Given the description of an element on the screen output the (x, y) to click on. 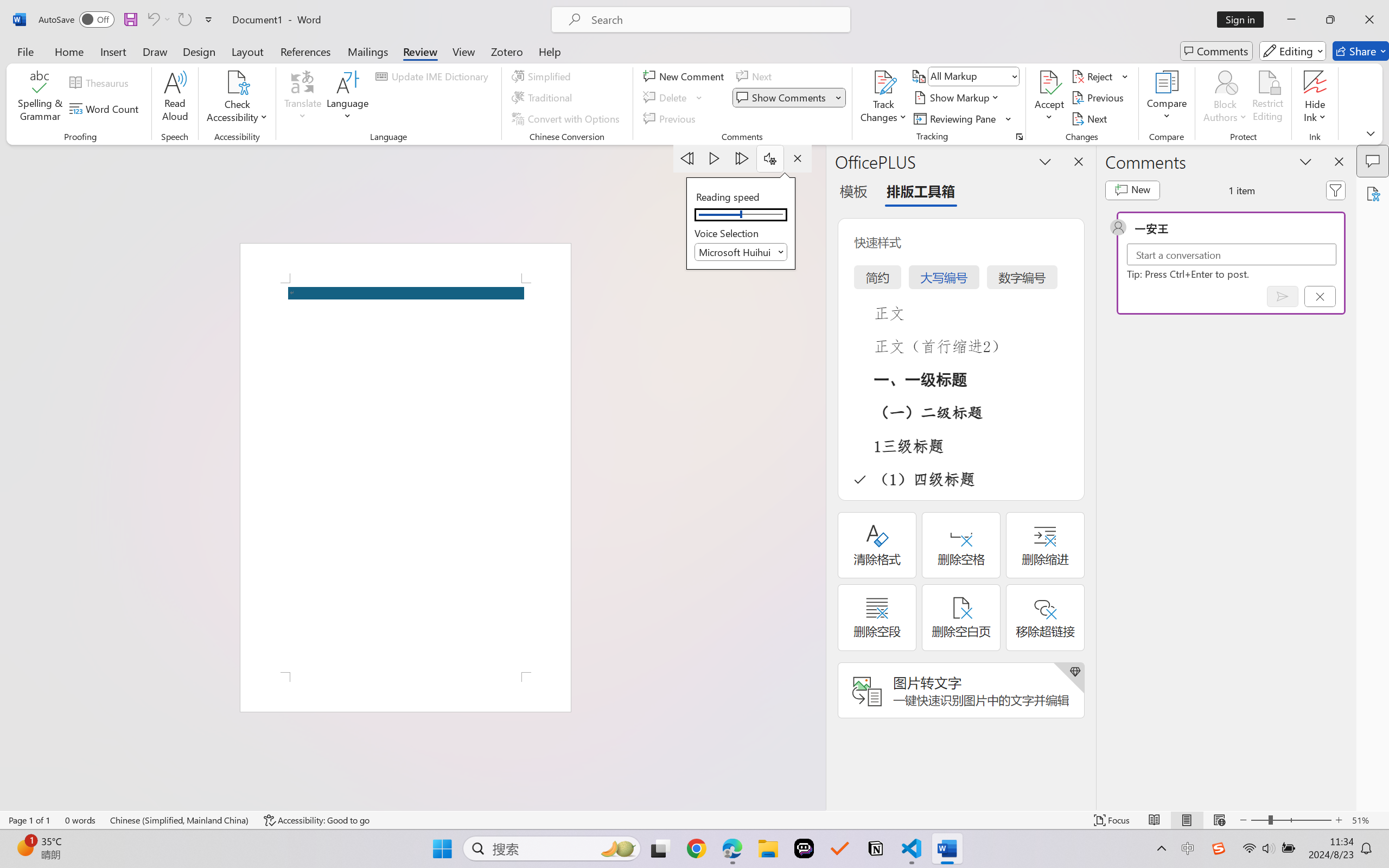
Accept and Move to Next (1049, 81)
Check Accessibility (237, 81)
Editing (1292, 50)
Reject and Move to Next (1093, 75)
Accept (1049, 97)
Accessibility Assistant (1373, 193)
